Given the description of an element on the screen output the (x, y) to click on. 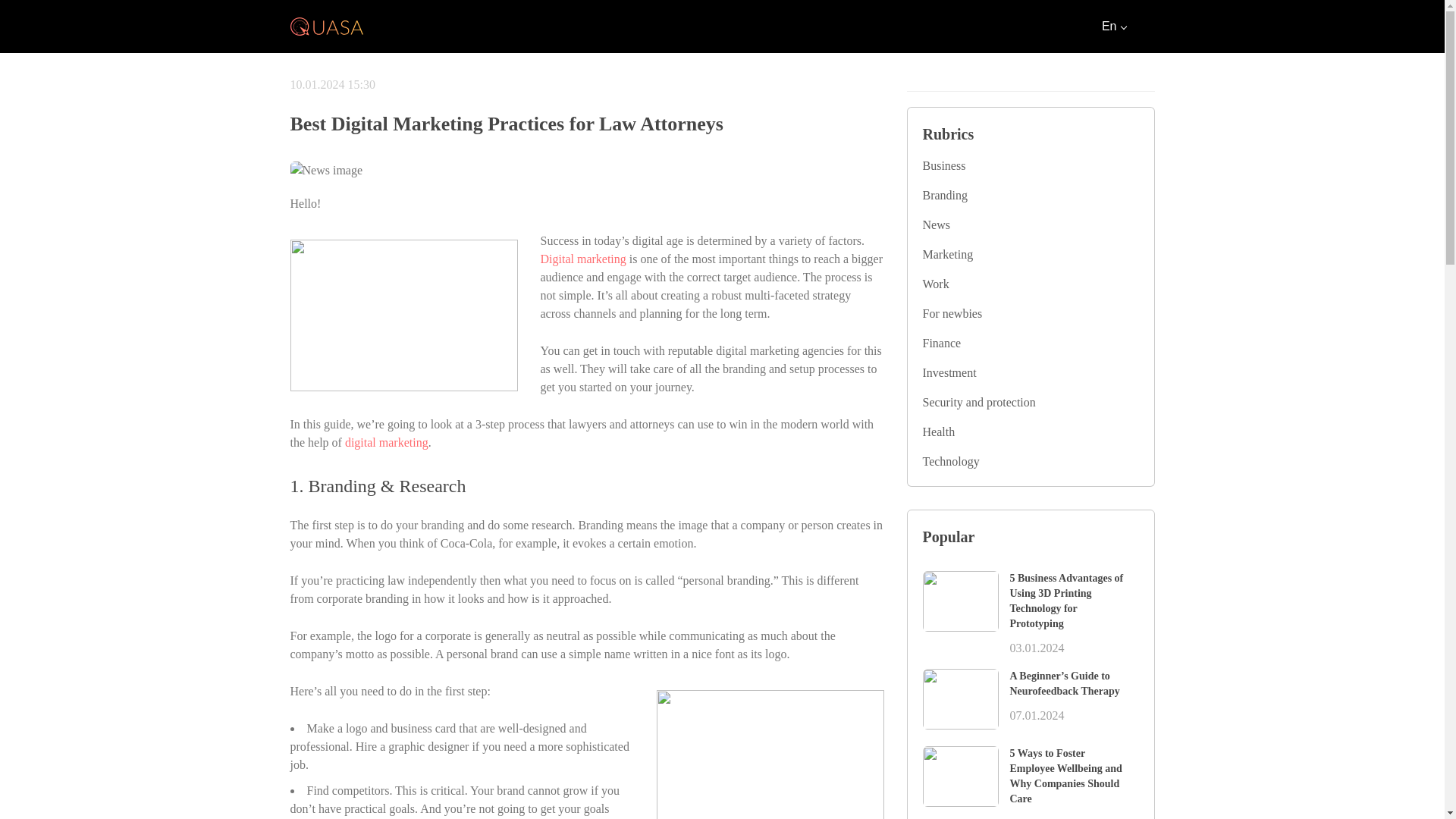
Security and protection (1029, 402)
digital marketing (386, 441)
Investment (1029, 372)
Branding (1029, 195)
For newbies (1029, 313)
Health (1029, 432)
Technology (1029, 461)
Marketing (1029, 254)
Business (1029, 166)
Finance (1029, 343)
Digital marketing (583, 258)
News (1029, 225)
Work (1029, 284)
